Given the description of an element on the screen output the (x, y) to click on. 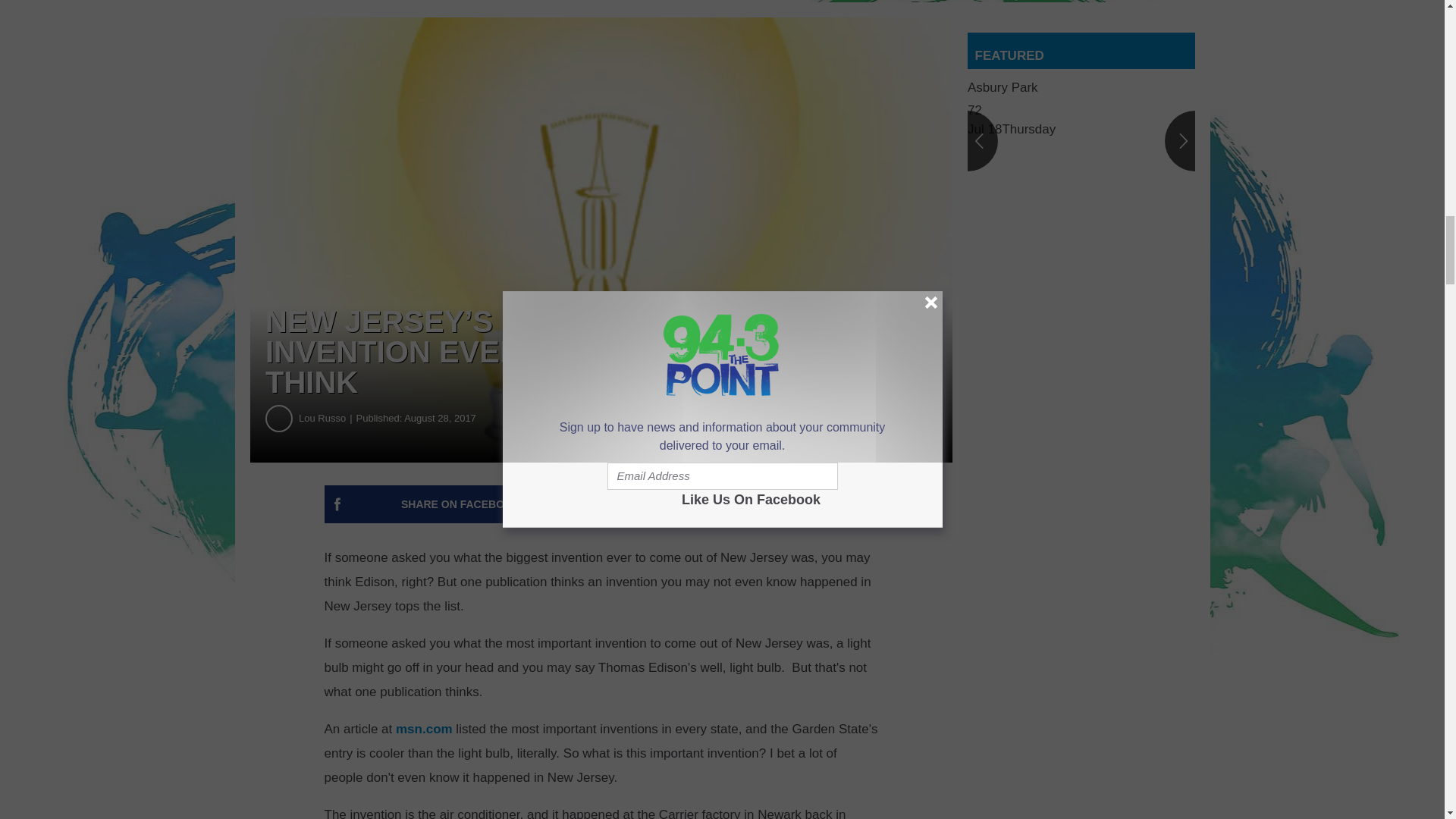
Share on Facebook (460, 504)
Share on Twitter (741, 504)
